Given the description of an element on the screen output the (x, y) to click on. 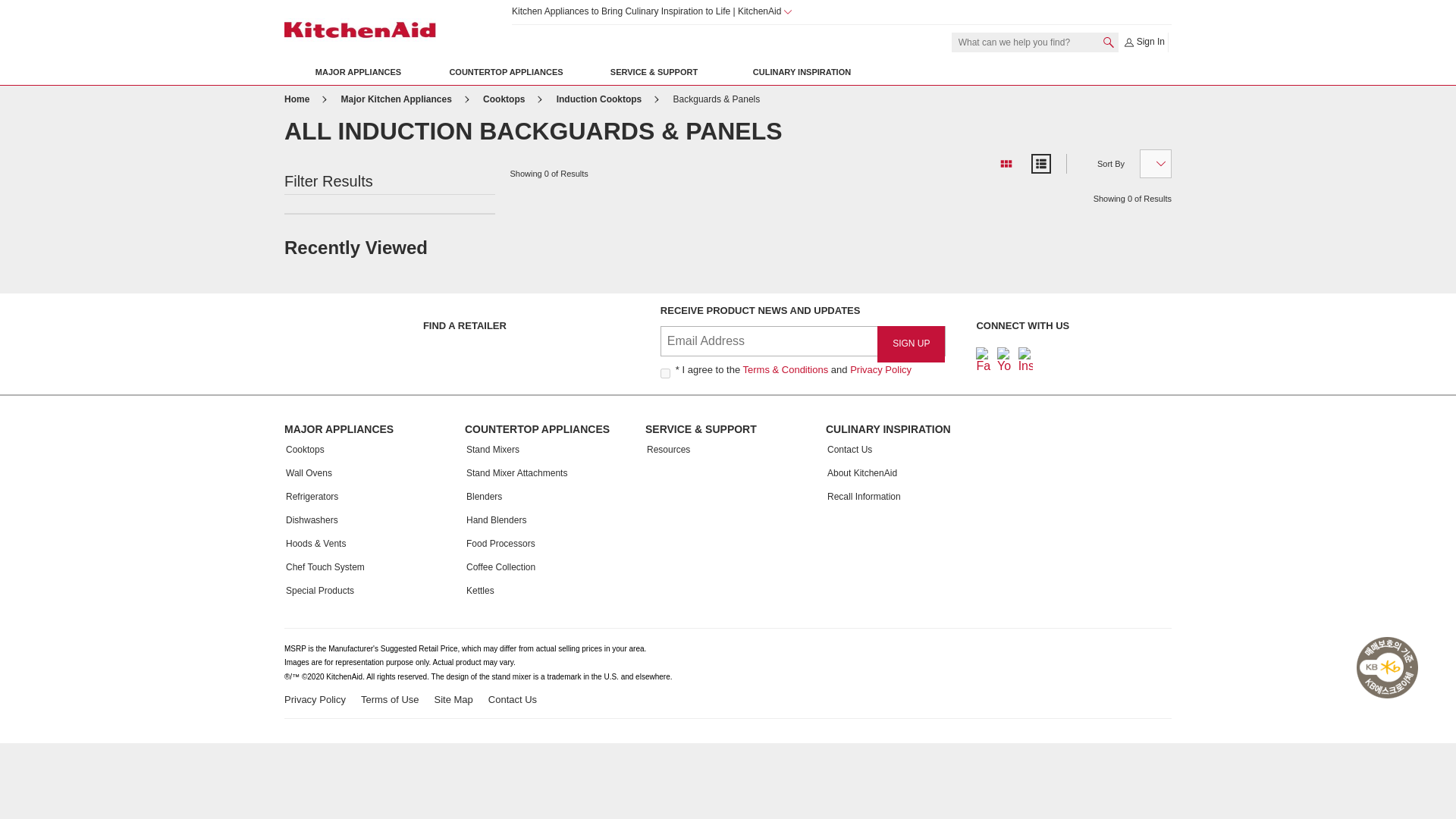
KitchenAid (359, 29)
Sign In (1144, 42)
true (665, 373)
Sign Up (910, 343)
Sign In (1144, 42)
MAJOR APPLIANCES (357, 72)
CULINARY INSPIRATION (802, 72)
COUNTERTOP APPLIANCES (505, 72)
